Given the description of an element on the screen output the (x, y) to click on. 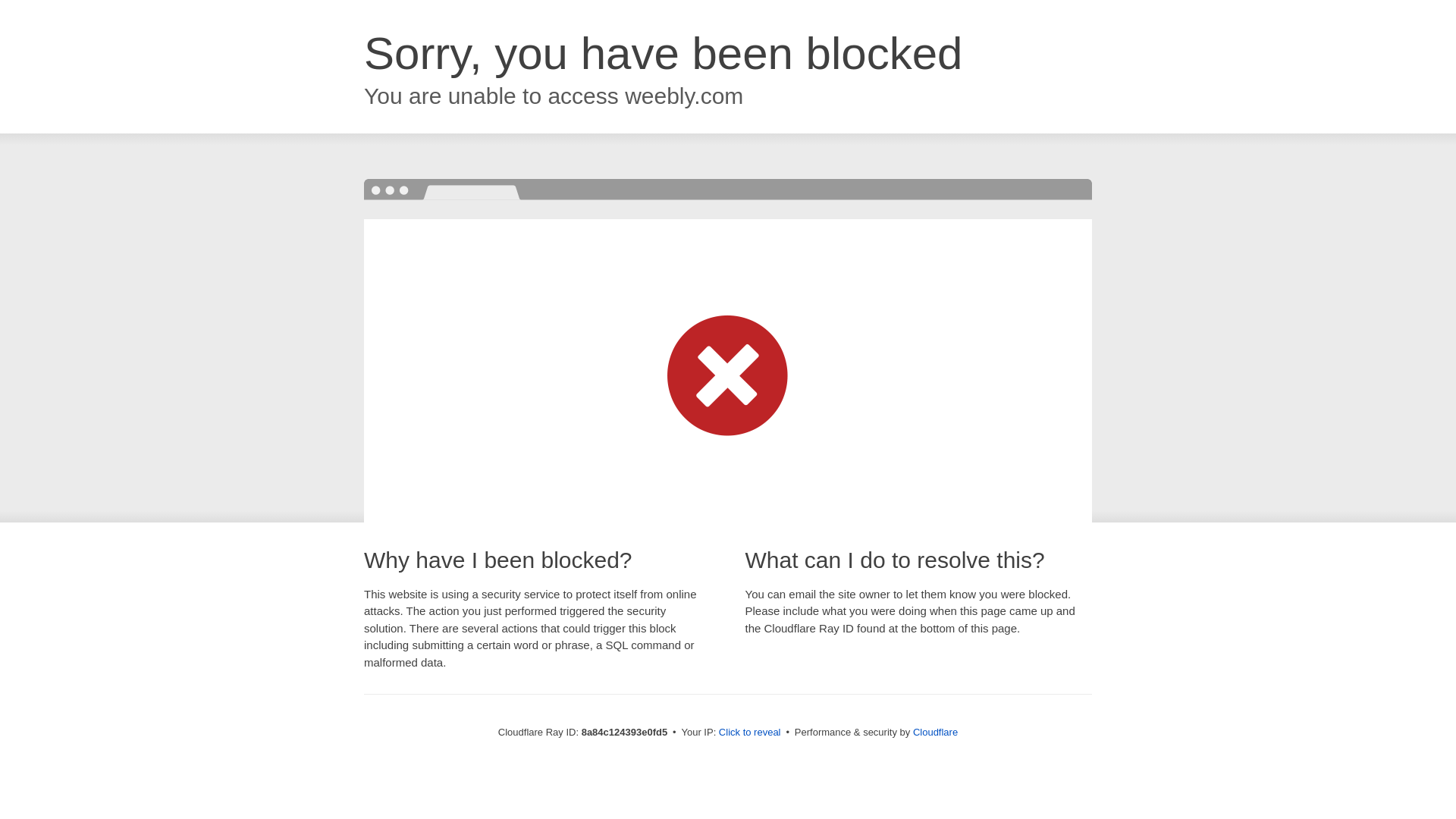
Click to reveal (749, 732)
Cloudflare (935, 731)
